Given the description of an element on the screen output the (x, y) to click on. 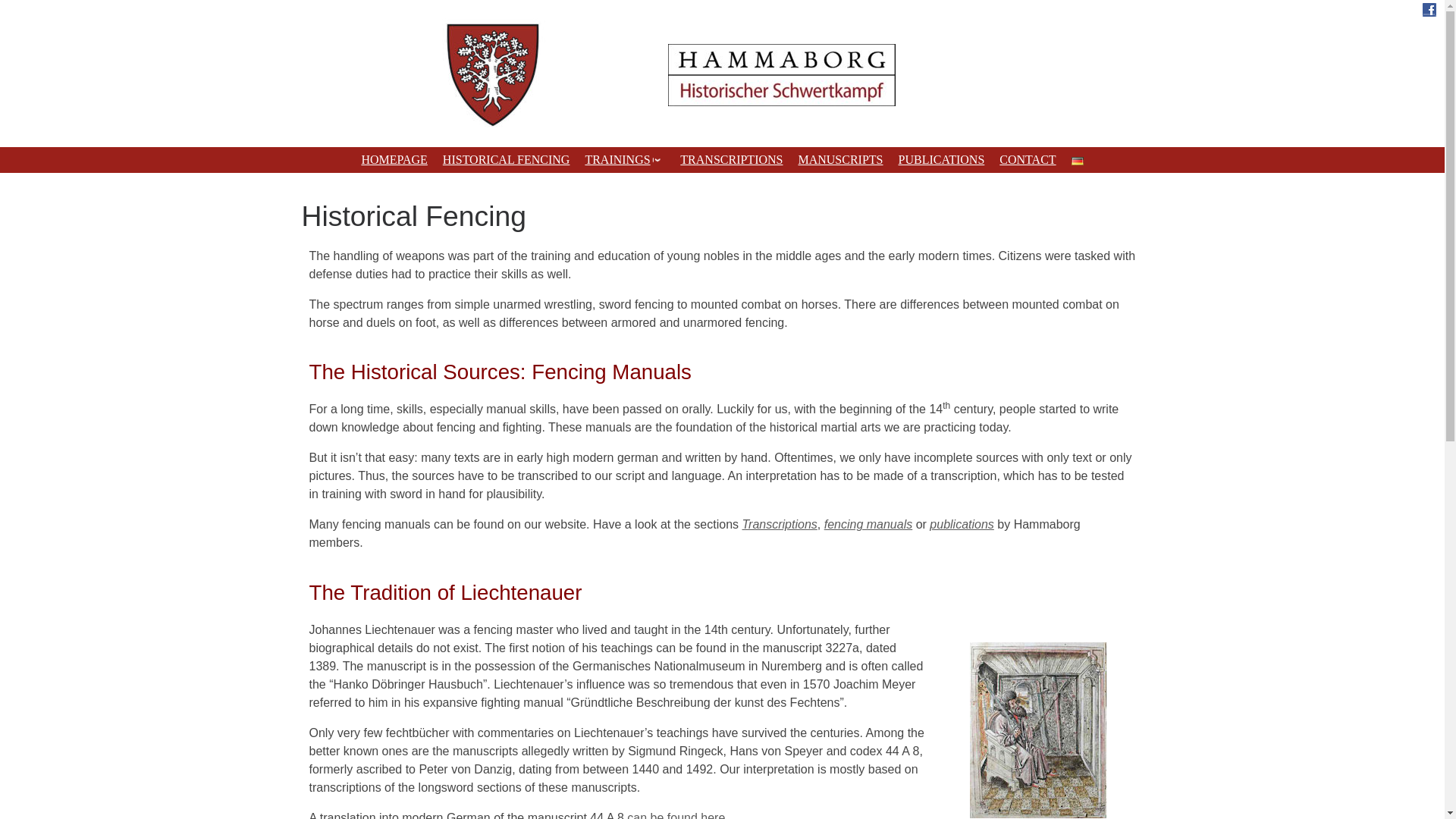
CONTACT (1027, 159)
HISTORICAL FENCING (506, 159)
HOMEPAGE (393, 159)
PUBLICATIONS (941, 159)
MANUSCRIPTS (839, 159)
facebook (722, 9)
TRANSCRIPTIONS (731, 159)
TRAININGS (624, 159)
